Given the description of an element on the screen output the (x, y) to click on. 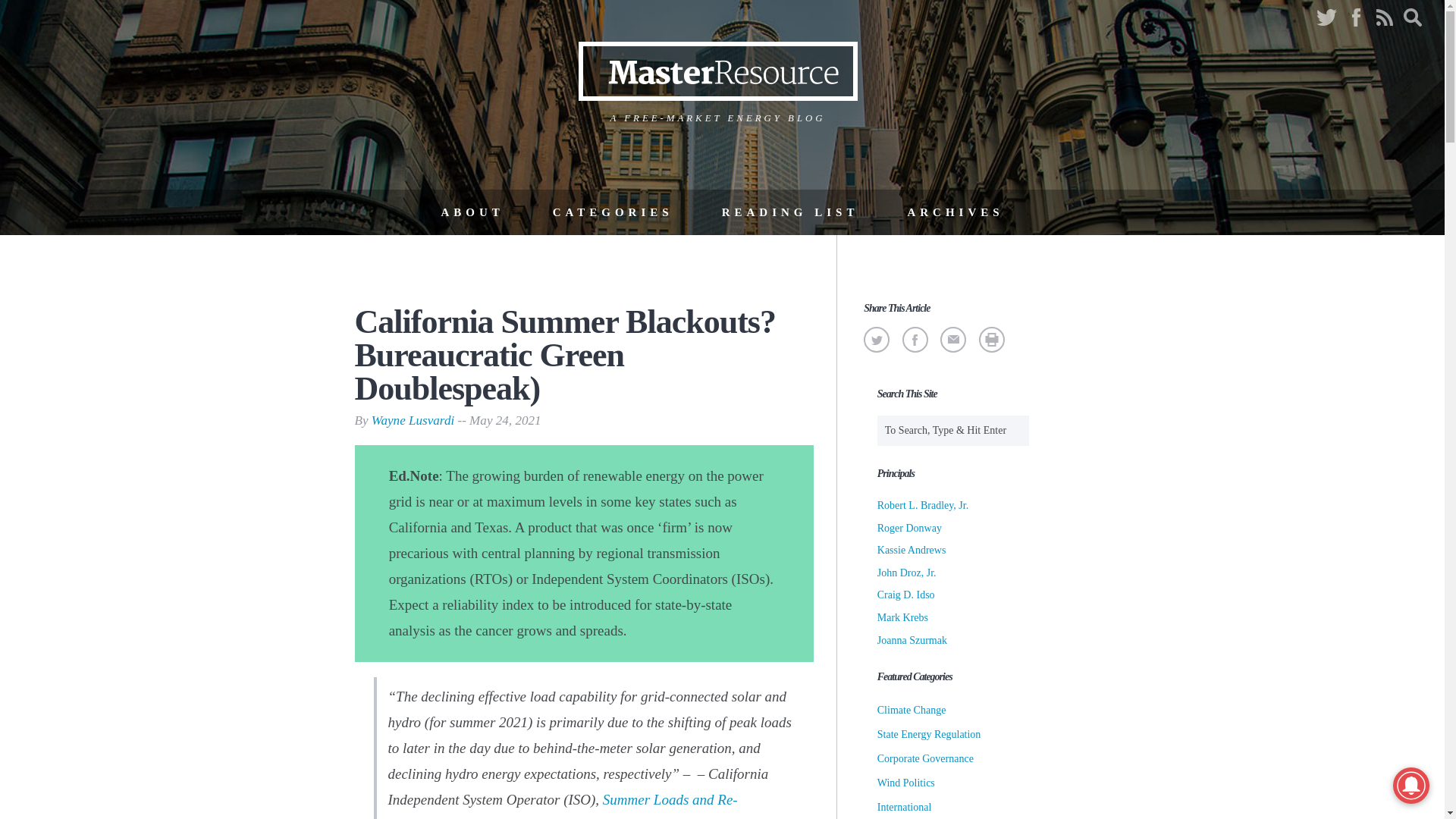
READING LIST (790, 212)
Summer Loads and Re-Assessment 2021 (563, 805)
Wayne Lusvardi (412, 420)
ABOUT (471, 212)
Robert L. Bradley, Jr. (922, 505)
Kassie Andrews (911, 550)
Roger Donway (909, 527)
Print Friendly (991, 339)
John Droz, Jr. (906, 572)
ARCHIVES (954, 212)
CATEGORIES (612, 212)
